Given the description of an element on the screen output the (x, y) to click on. 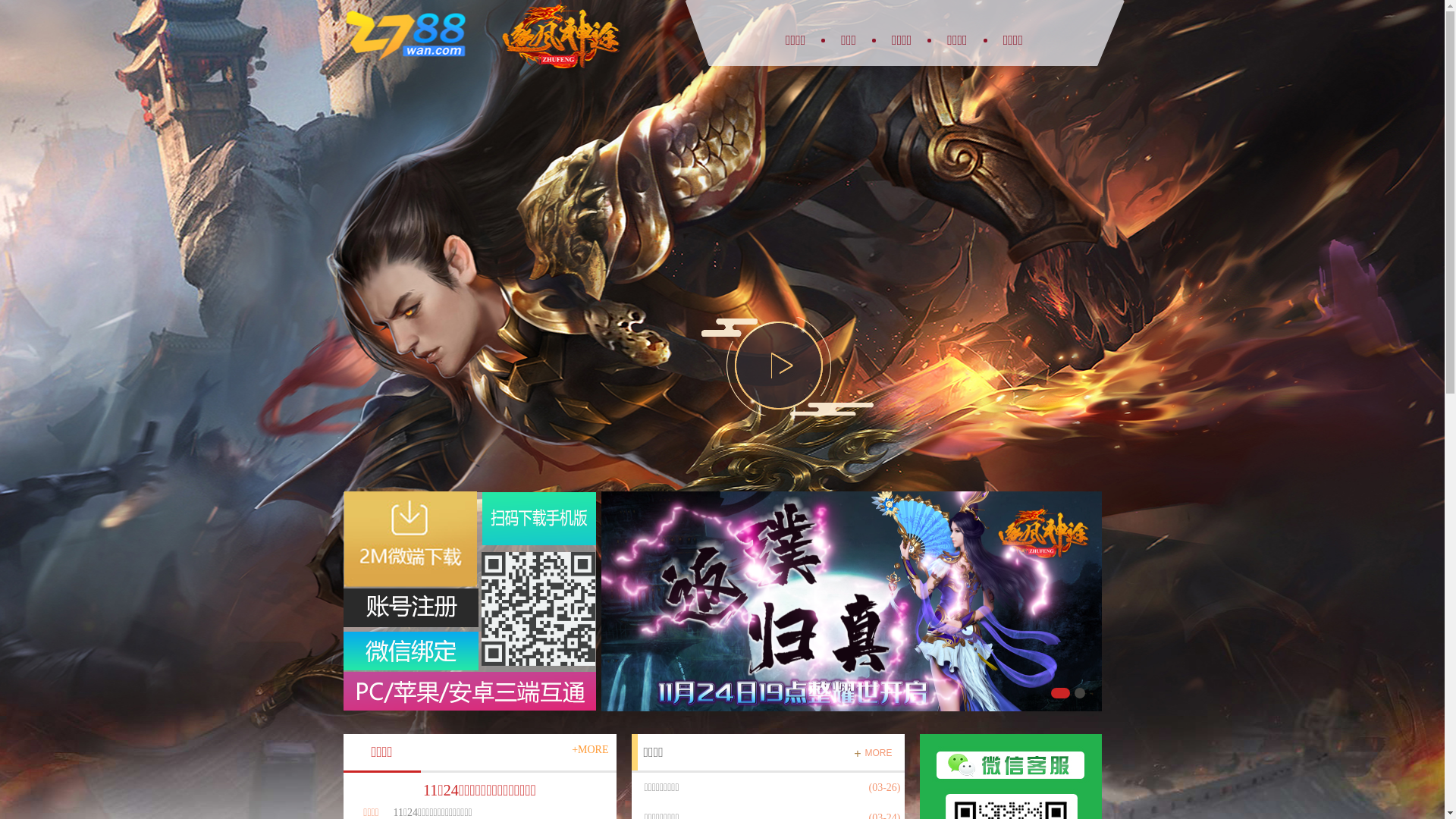
+MORE Element type: text (589, 749)
+MORE Element type: text (872, 753)
